Given the description of an element on the screen output the (x, y) to click on. 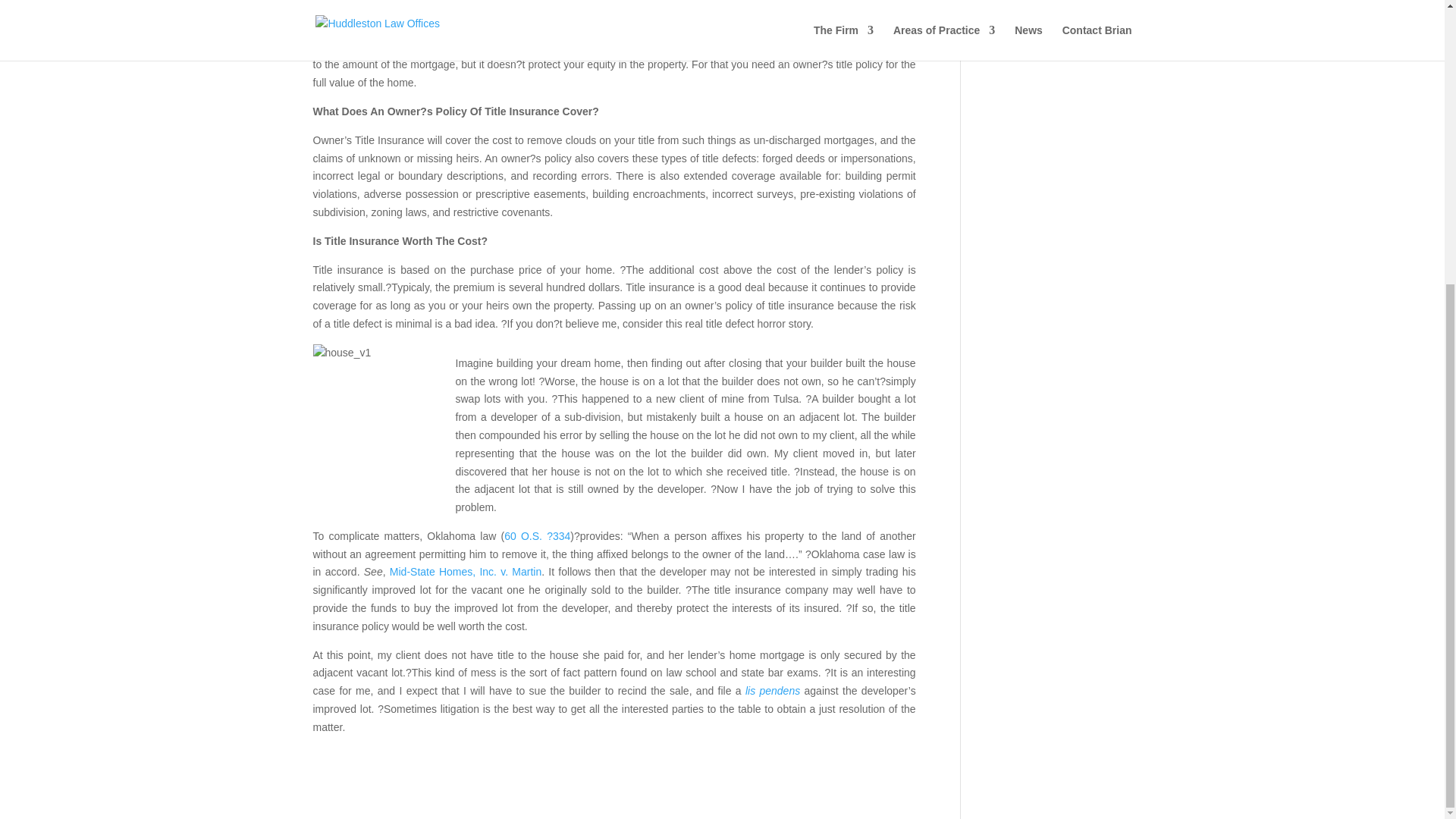
Mid-State Homes, Inc. v. Martin (465, 571)
60 O.S. ?334 (536, 535)
lis pendens (772, 690)
policy (833, 21)
